Given the description of an element on the screen output the (x, y) to click on. 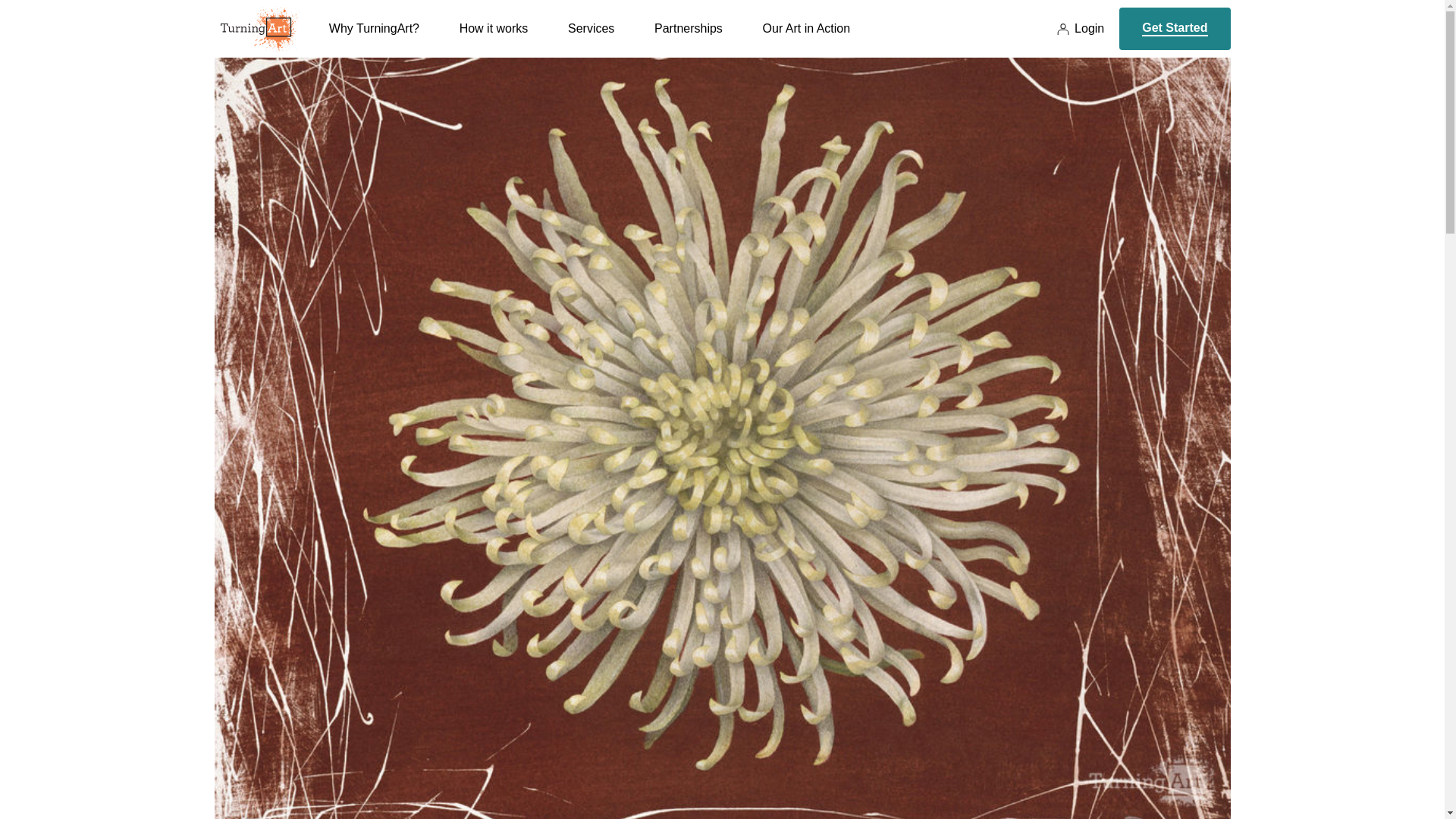
Services (590, 38)
Our Art in Action (806, 38)
How it works (494, 38)
Partnerships (687, 38)
Login (1080, 28)
Why TurningArt? (374, 38)
Get Started (1174, 28)
